Given the description of an element on the screen output the (x, y) to click on. 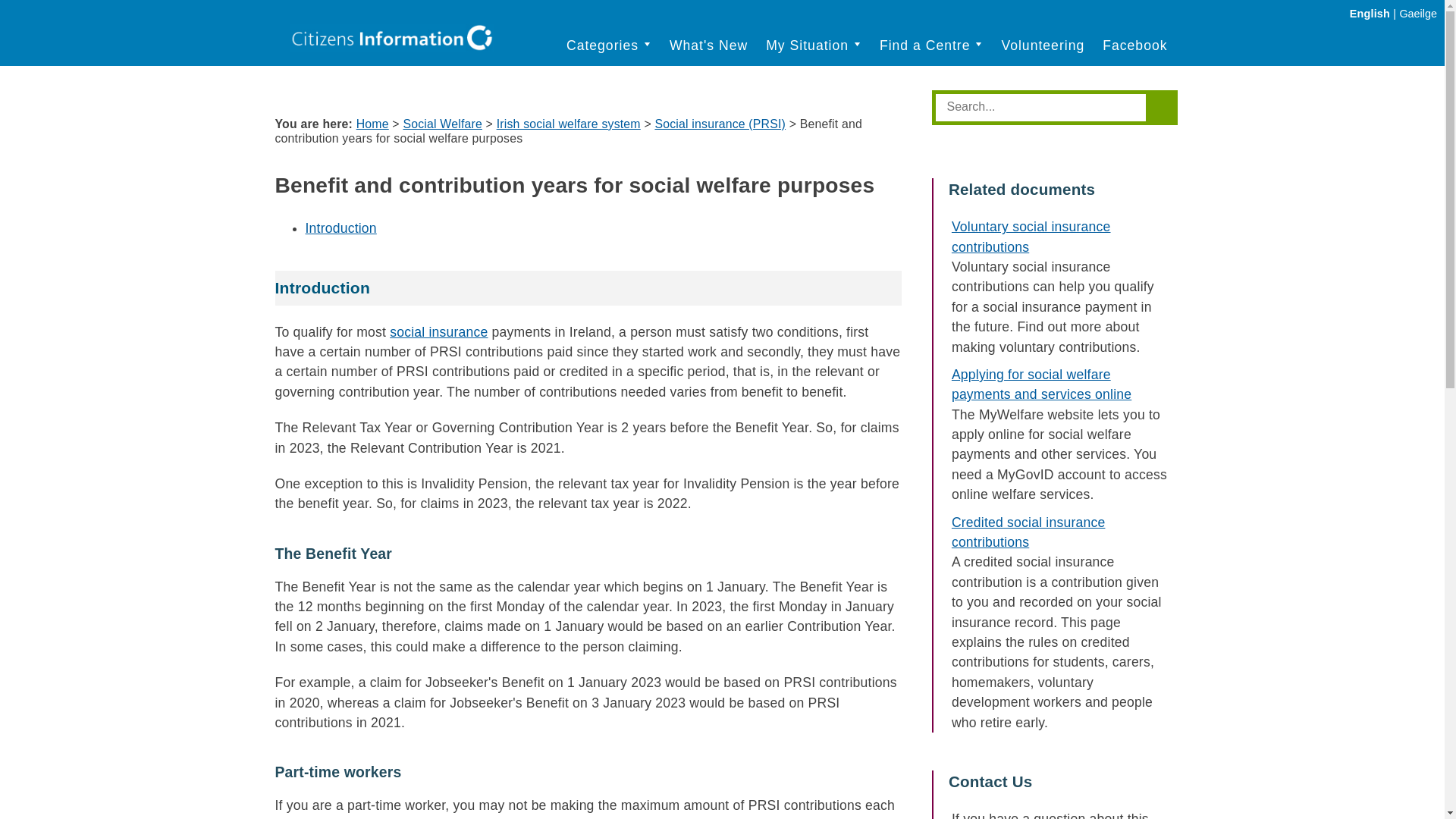
What's New (707, 45)
Categories (608, 45)
Search (1043, 106)
My Situation (812, 45)
Gaeilge (1418, 13)
